Given the description of an element on the screen output the (x, y) to click on. 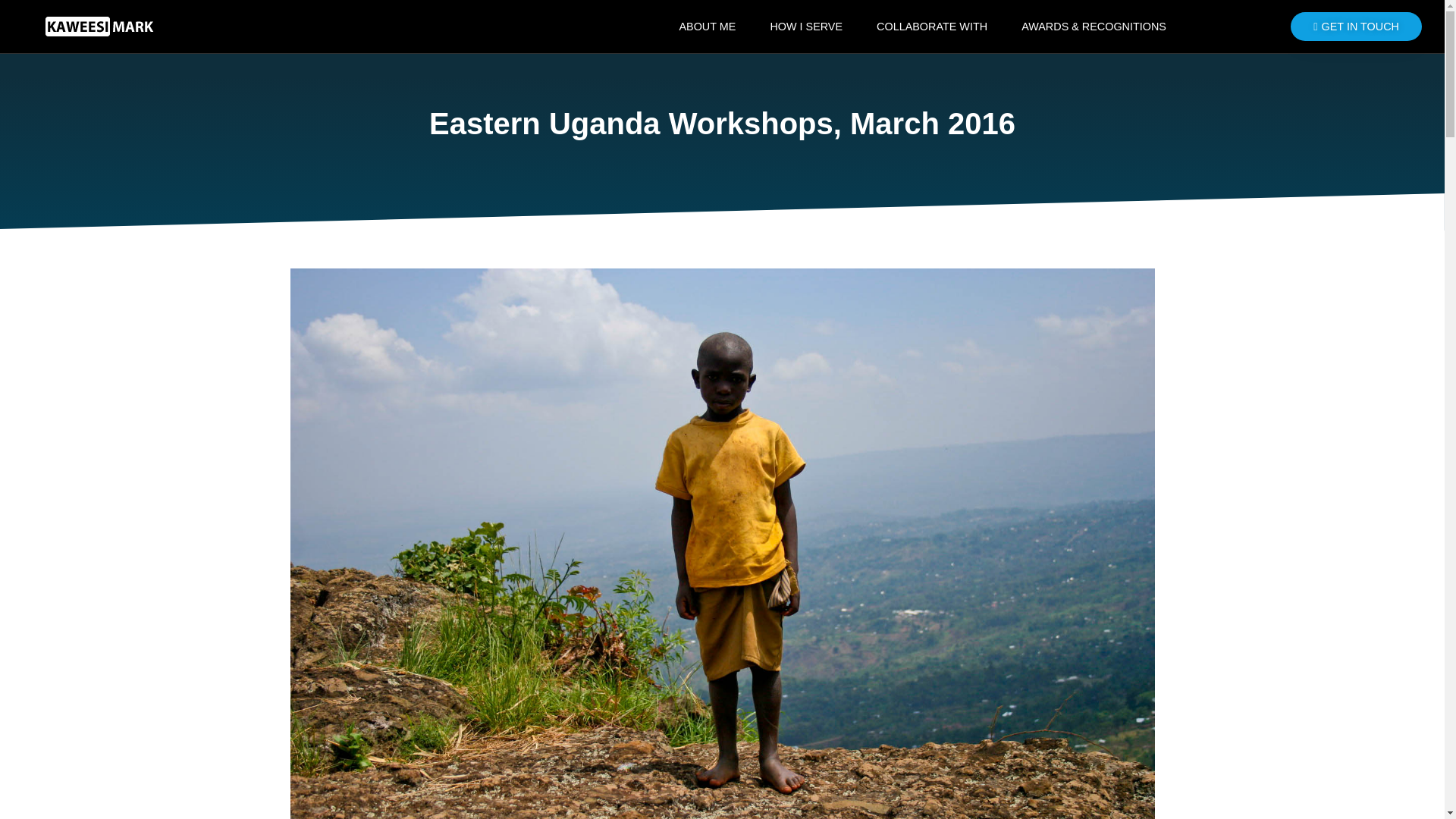
HOW I SERVE (805, 26)
ABOUT ME (707, 26)
COLLABORATE WITH (932, 26)
GET IN TOUCH (1356, 26)
